Given the description of an element on the screen output the (x, y) to click on. 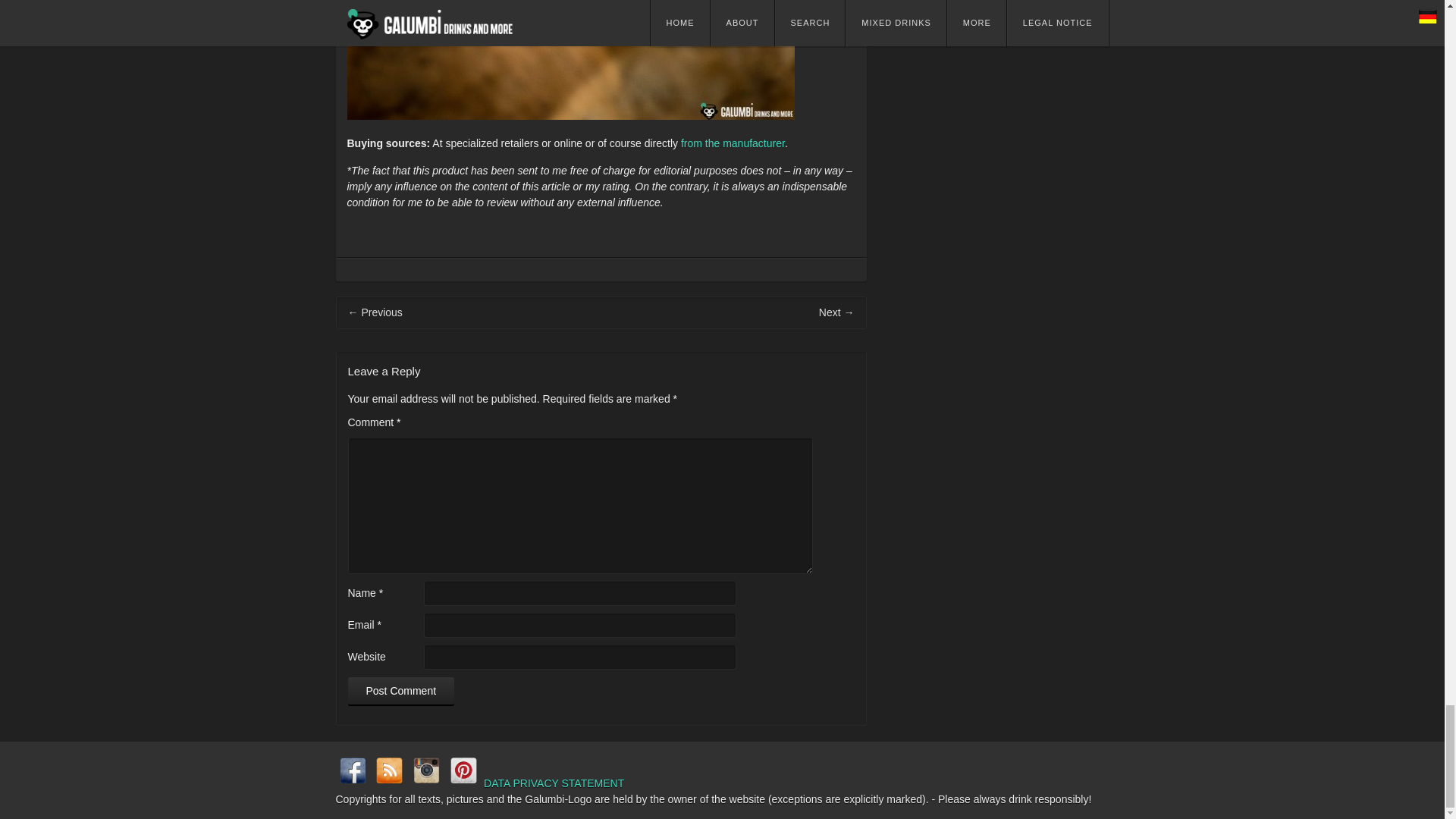
from the manufacturer (732, 143)
Post Comment (400, 691)
Post Comment (400, 691)
